Given the description of an element on the screen output the (x, y) to click on. 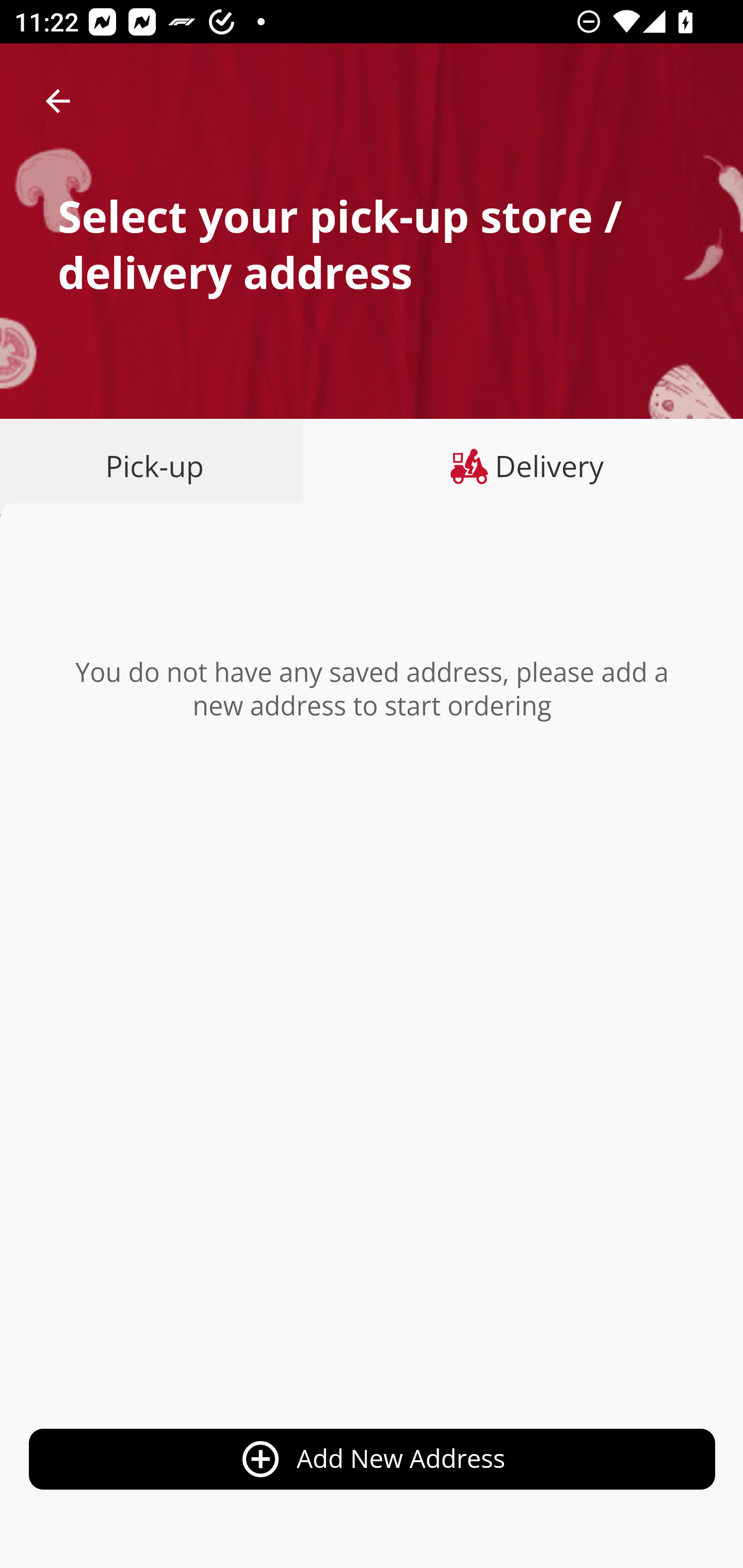
arrow_back (58, 100)
Pick-up (157, 466)
Delivery (523, 466)
add_circle_outline Add New Address (372, 1459)
